Given the description of an element on the screen output the (x, y) to click on. 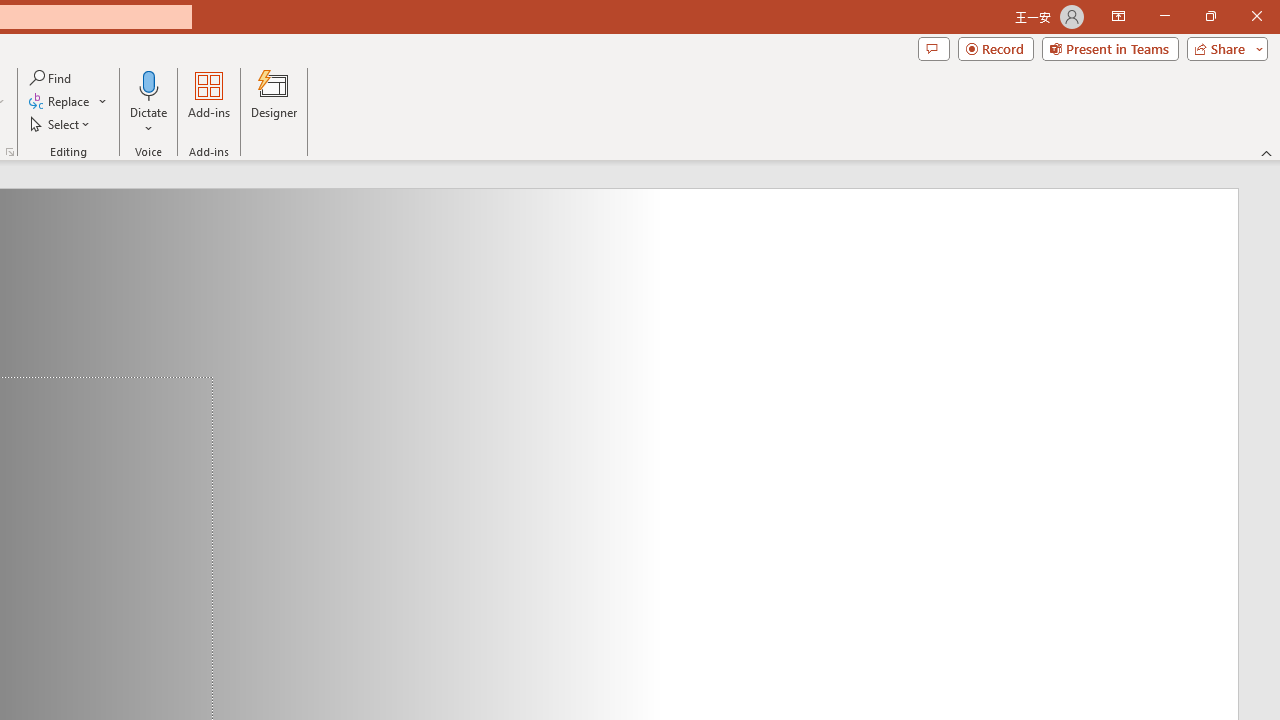
Close (1256, 16)
Format Object... (9, 151)
Restore Down (1210, 16)
Select (61, 124)
Collapse the Ribbon (1267, 152)
Share (1223, 48)
Replace... (68, 101)
Replace... (60, 101)
Dictate (149, 84)
Designer (274, 102)
More Options (149, 121)
Find... (51, 78)
Record (995, 48)
Comments (933, 48)
